Given the description of an element on the screen output the (x, y) to click on. 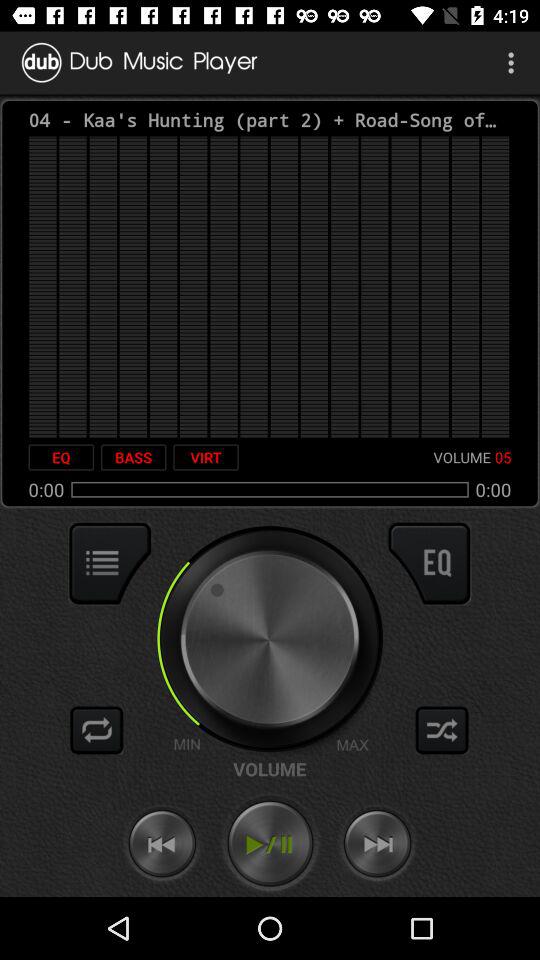
forward/jump forward (377, 844)
